Given the description of an element on the screen output the (x, y) to click on. 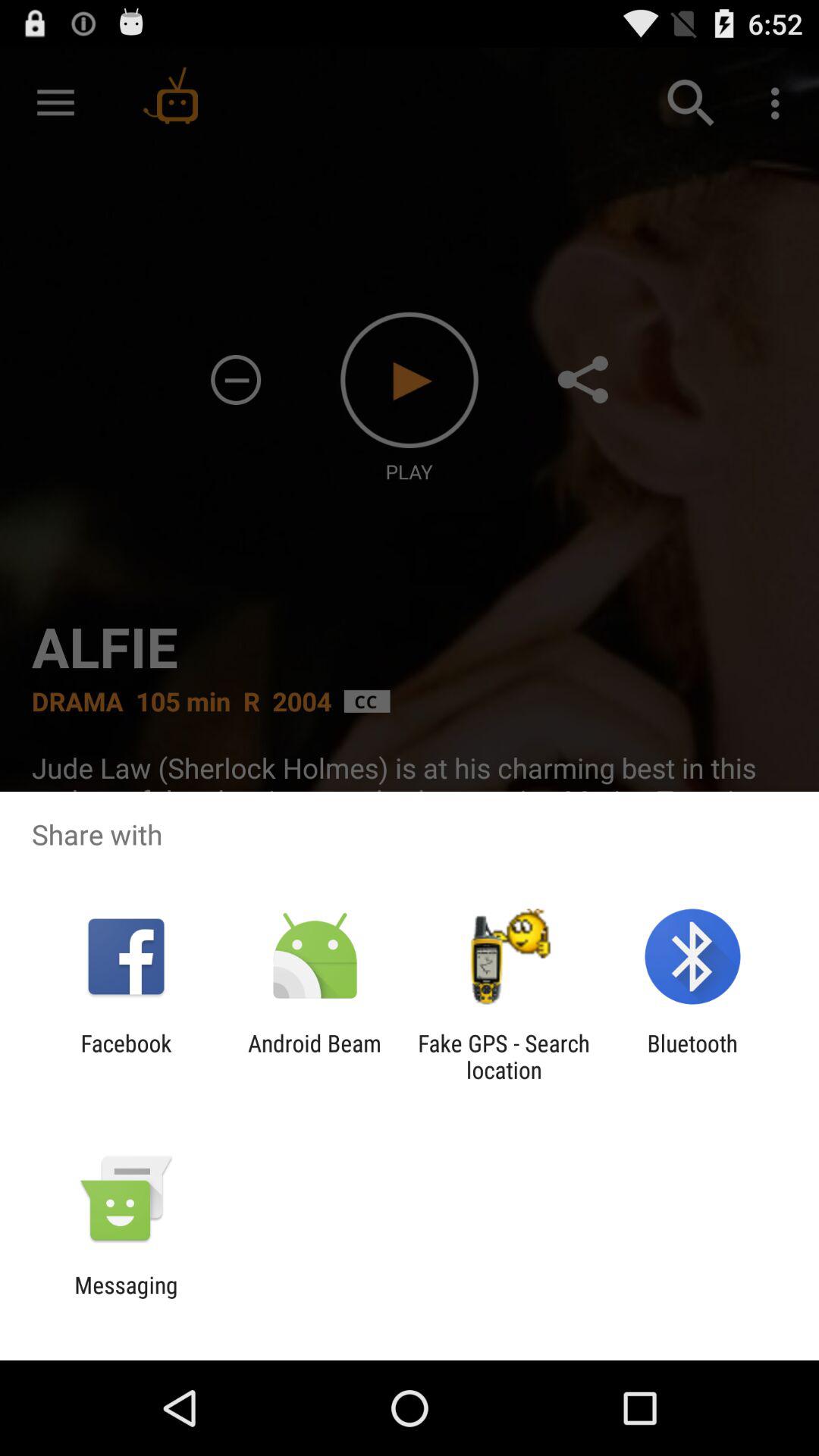
scroll to facebook (125, 1056)
